Given the description of an element on the screen output the (x, y) to click on. 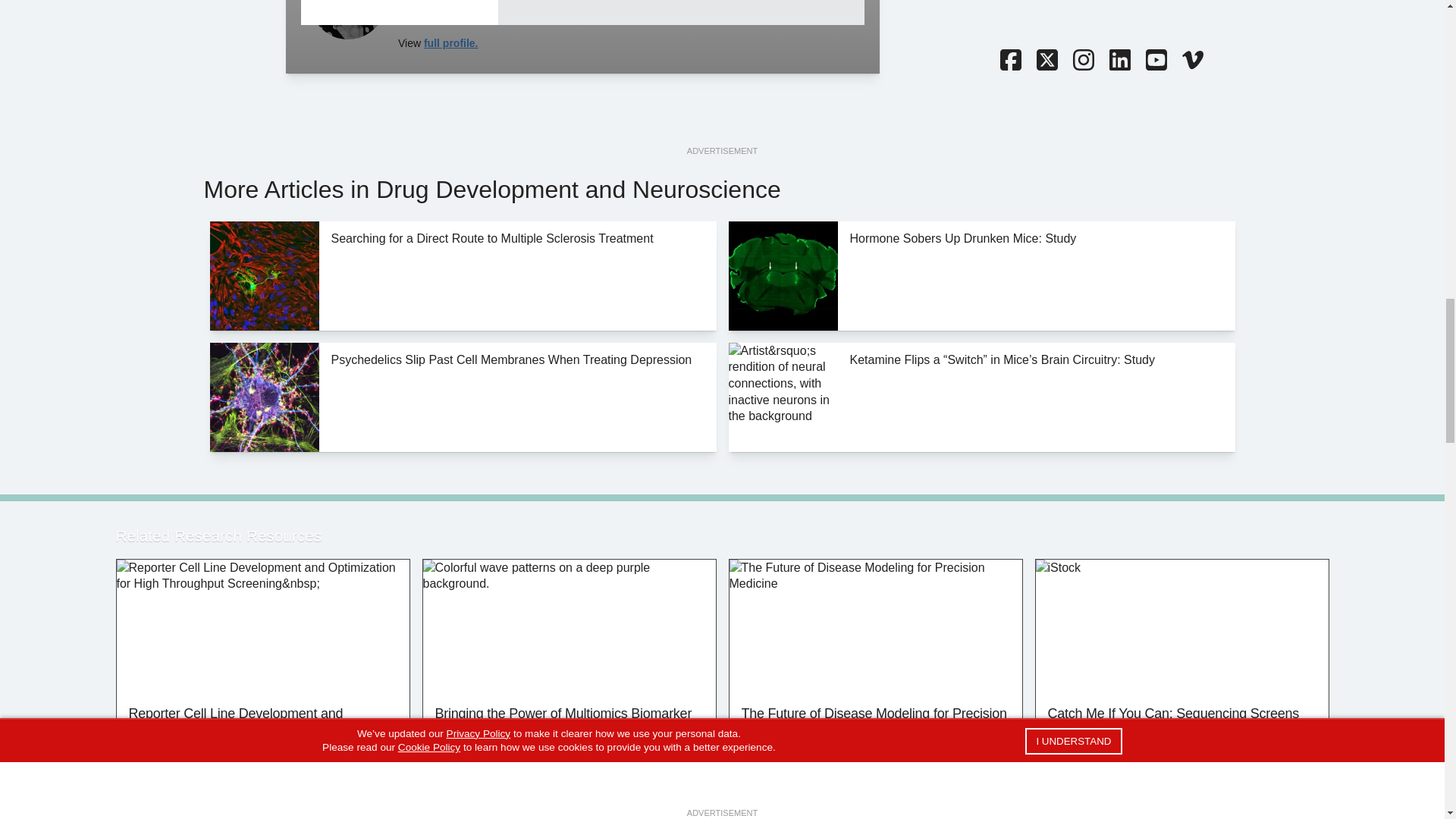
Shawna Williams (347, 19)
Instagram (1082, 61)
LinkedIn (1118, 61)
Facebook (1009, 61)
Twitter (1045, 61)
